Given the description of an element on the screen output the (x, y) to click on. 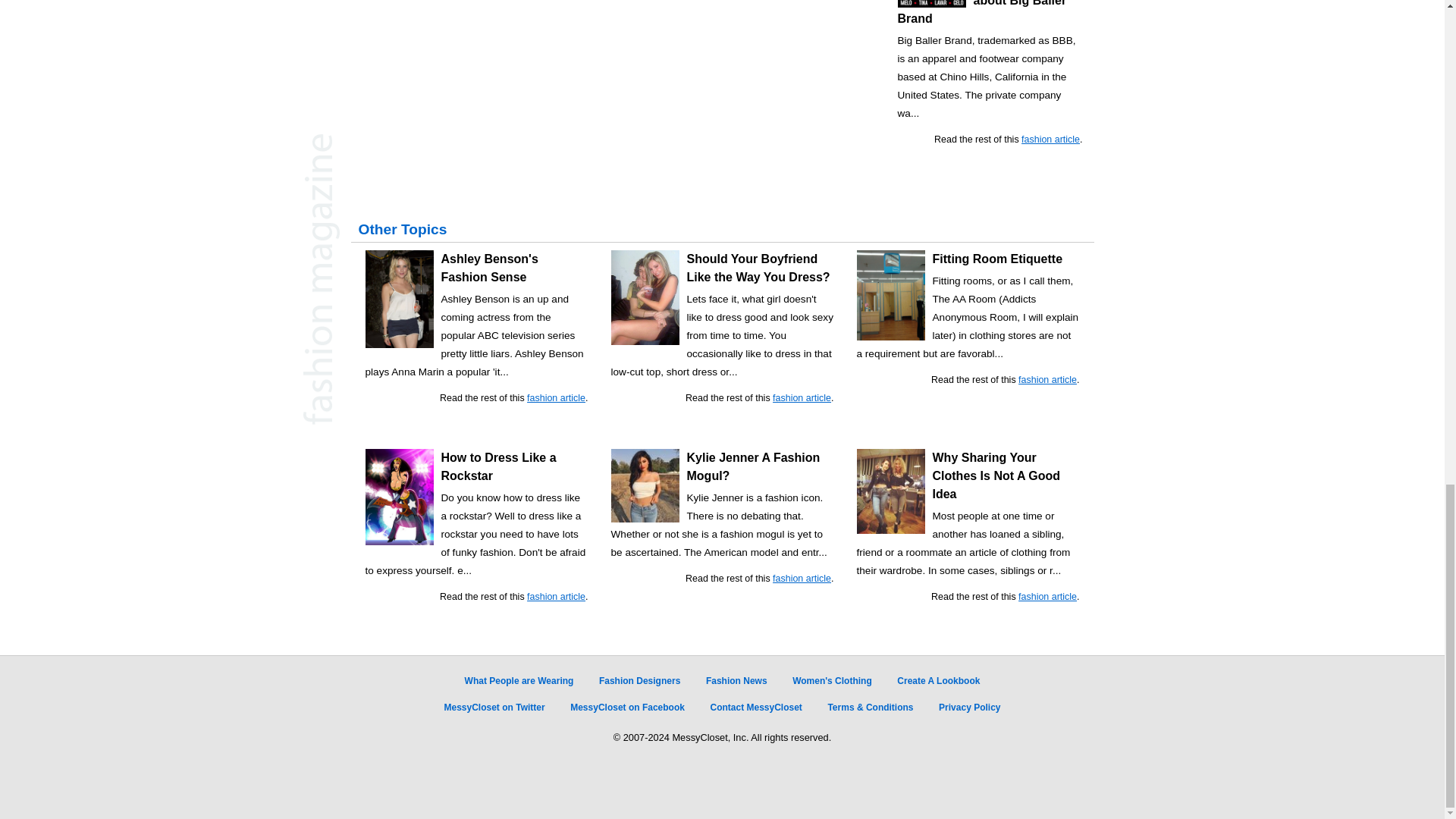
Read the latest microblogs from MessyCloset (494, 706)
fashion article (1051, 139)
fashion article (556, 398)
